Given the description of an element on the screen output the (x, y) to click on. 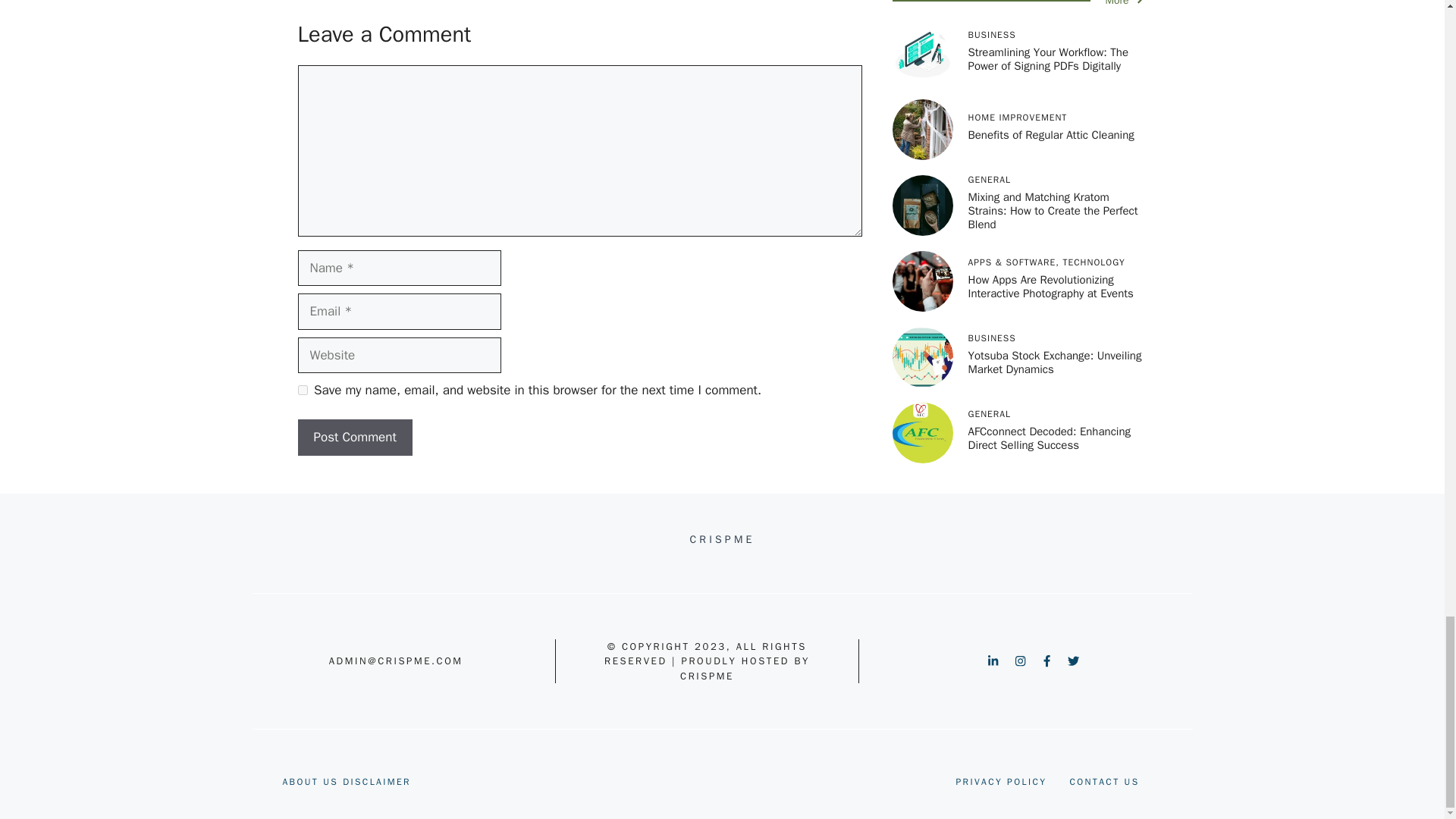
Post Comment (354, 437)
Post Comment (354, 437)
yes (302, 389)
